Given the description of an element on the screen output the (x, y) to click on. 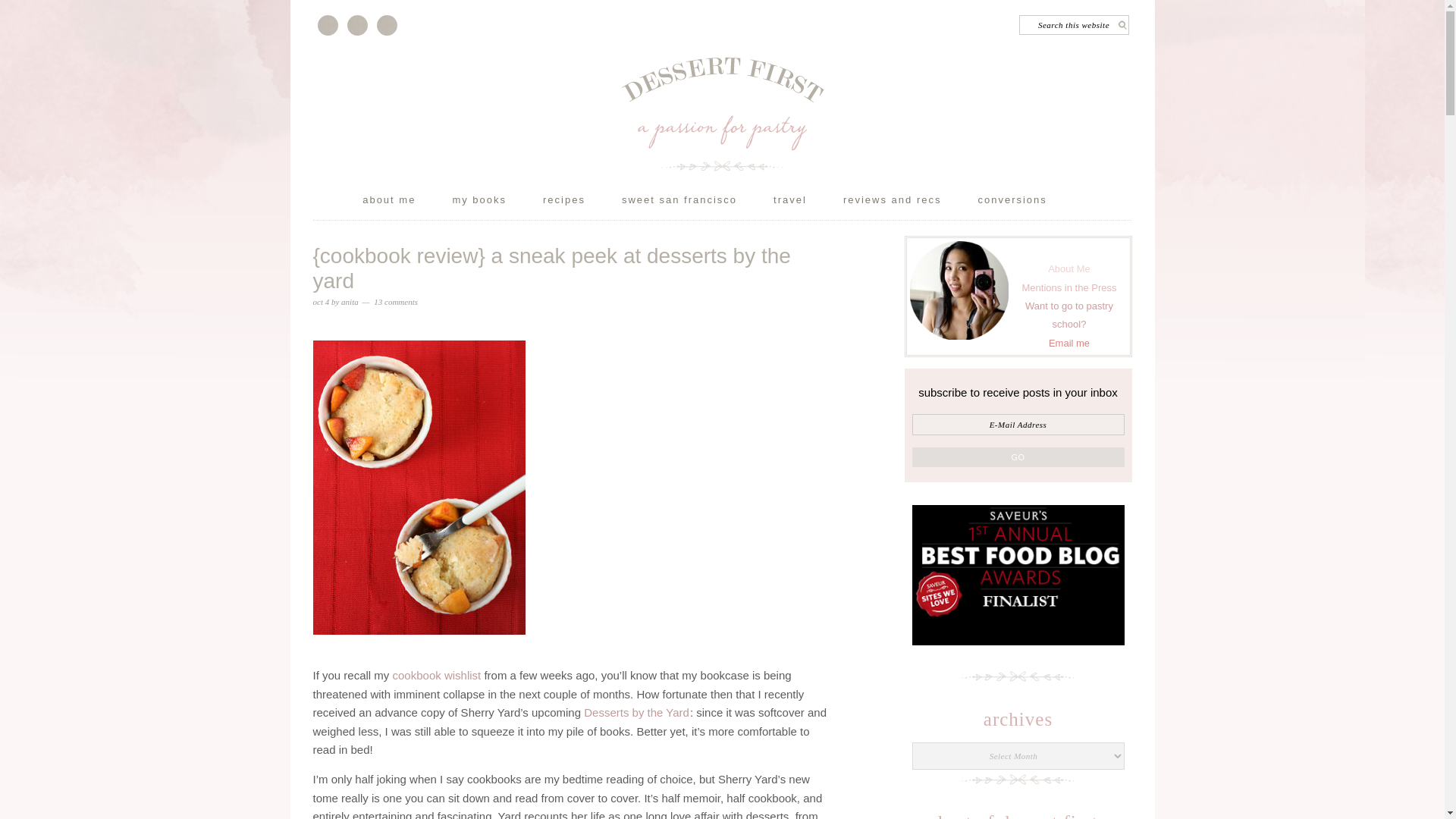
Search (1132, 18)
conversions (1028, 203)
Search (1132, 18)
travel (807, 203)
anita (349, 301)
reviews and recs (909, 203)
Go (1017, 456)
sweet san francisco (696, 203)
13 comments (395, 301)
my books (496, 203)
about me (405, 203)
DESSERT FIRST (721, 113)
recipes (581, 203)
Search (1132, 18)
